Given the description of an element on the screen output the (x, y) to click on. 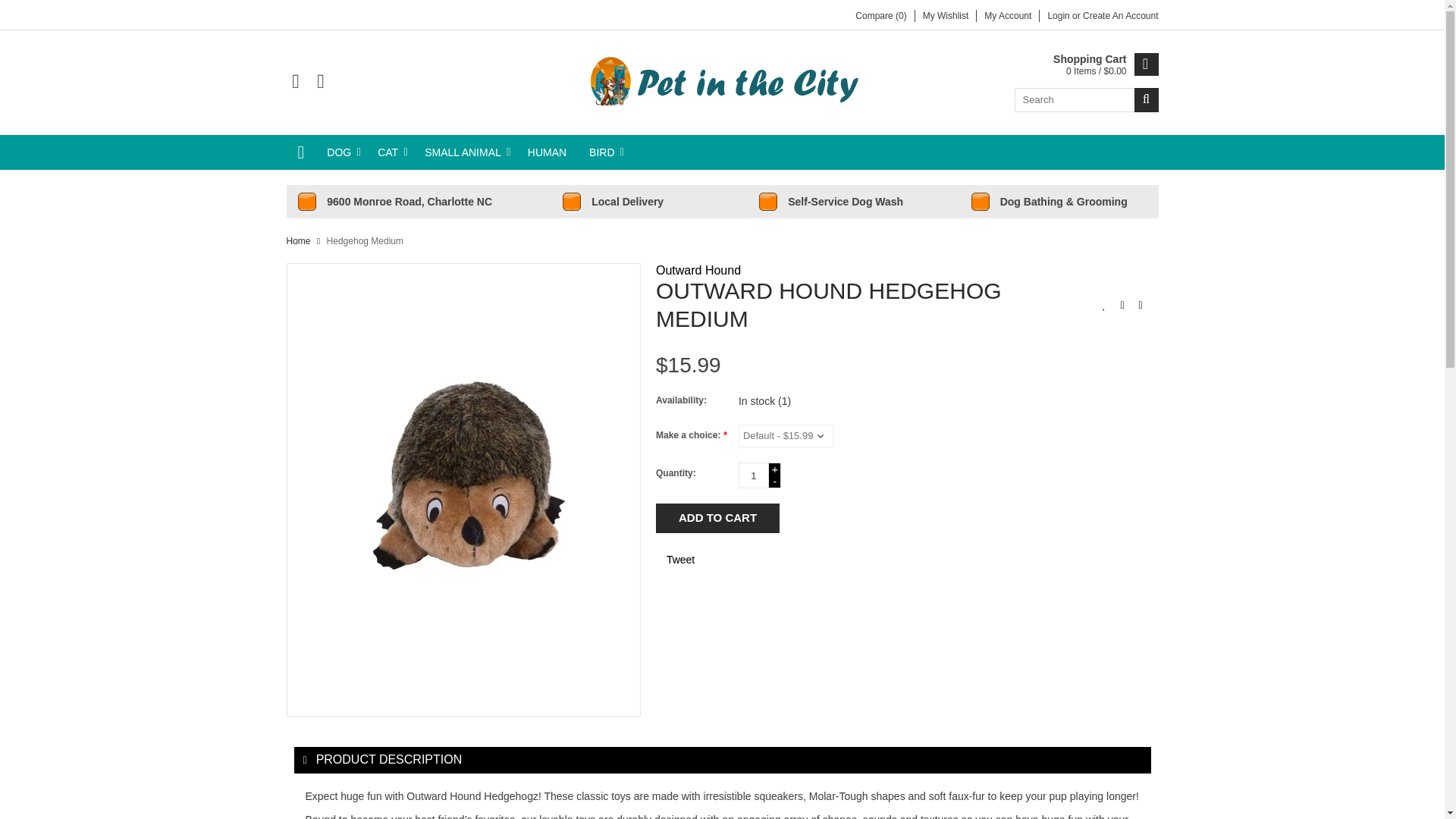
1 (753, 475)
Search (1146, 99)
Create An Account (1120, 15)
My account (1058, 15)
My Account (1007, 15)
Dog (340, 151)
My wishlist (946, 15)
Pet in the City NC (722, 80)
My account (1120, 15)
Instagram Pet in the City (320, 82)
